Given the description of an element on the screen output the (x, y) to click on. 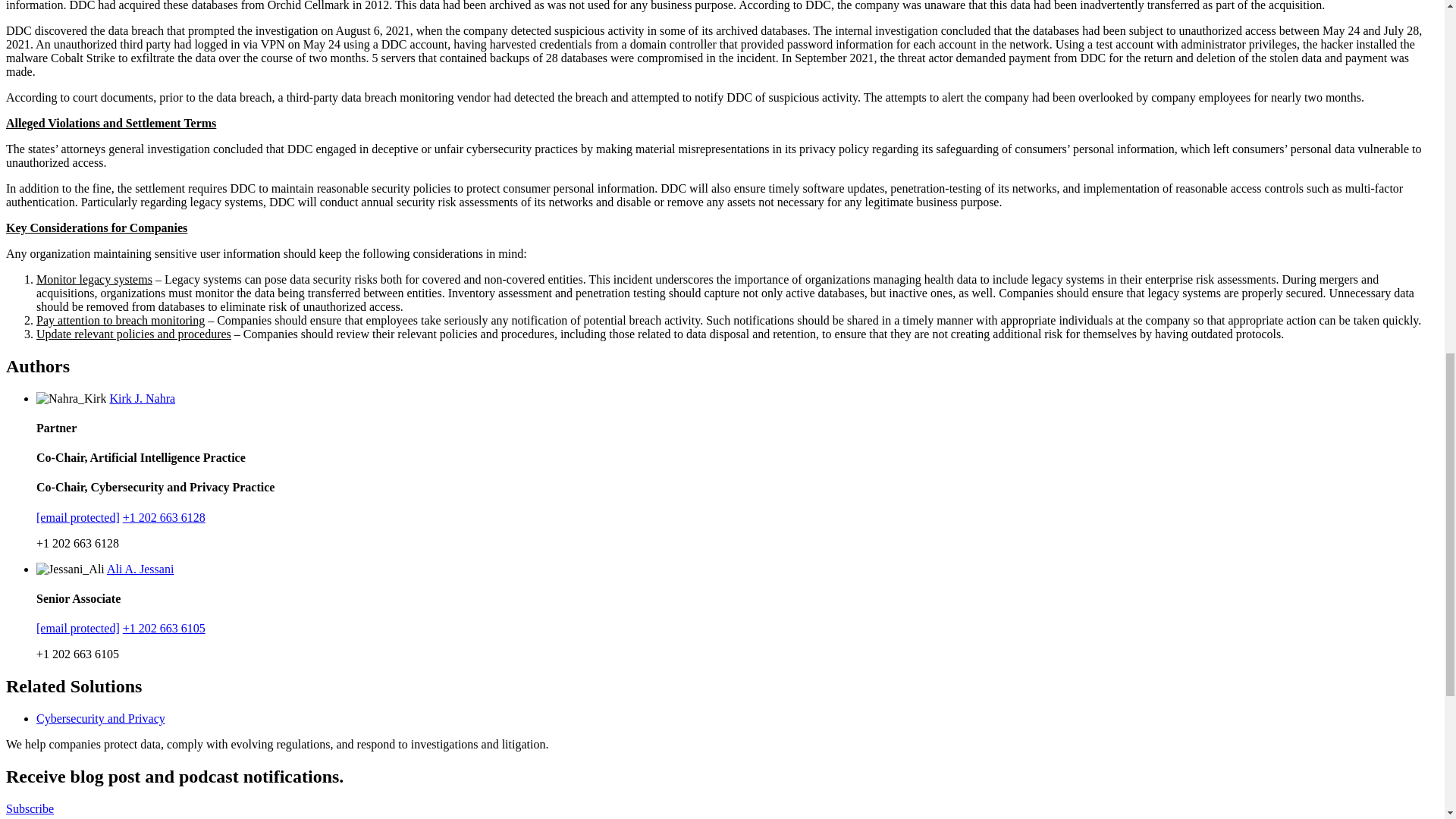
Cybersecurity and Privacy (100, 717)
Subscribe (29, 808)
Kirk J. Nahra (141, 397)
Ali A. Jessani (139, 568)
